Given the description of an element on the screen output the (x, y) to click on. 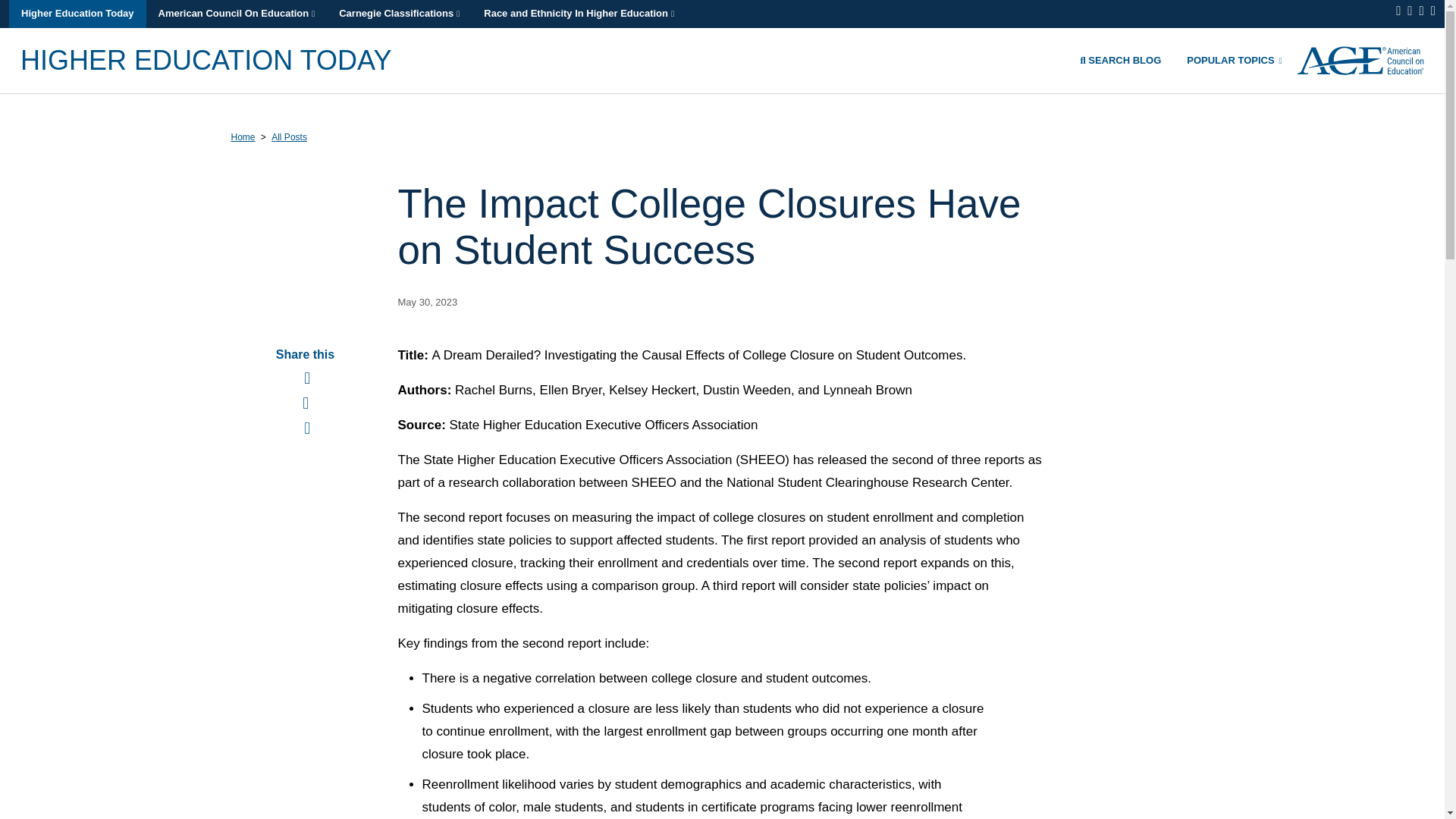
Higher Education Today (77, 13)
Carnegie Classifications (398, 13)
Race and Ethnicity In Higher Education (578, 13)
HIGHER EDUCATION TODAY (205, 59)
SEARCH BLOG (1124, 59)
Search (1124, 59)
Home (242, 136)
American Council On Education (237, 13)
POPULAR TOPICS (1233, 59)
All Posts (288, 136)
